Given the description of an element on the screen output the (x, y) to click on. 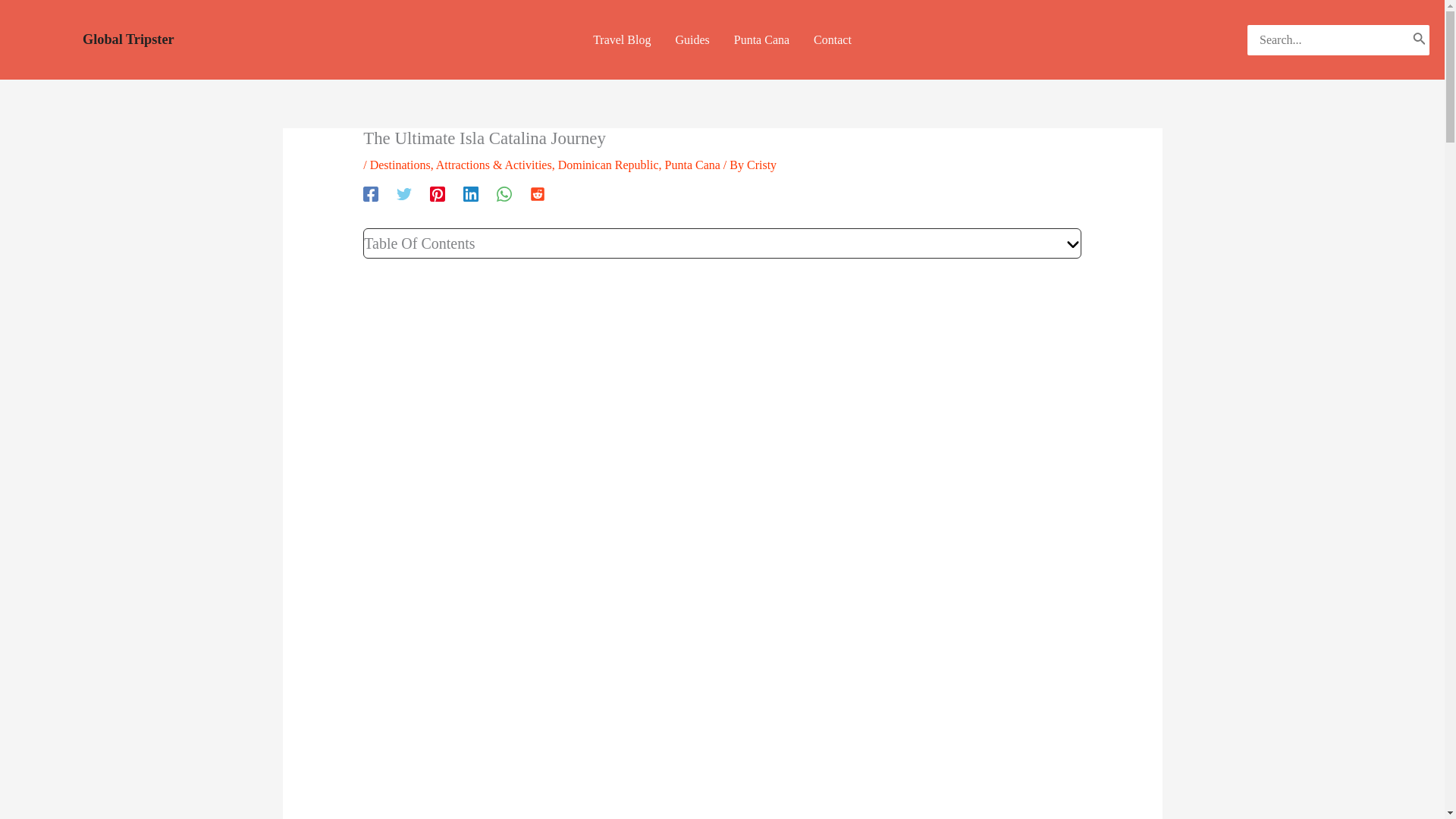
View all posts by Cristy (761, 164)
Destinations (399, 164)
Punta Cana (762, 39)
Dominican Republic (608, 164)
Travel Blog (621, 39)
Contact (832, 39)
Global Tripster (128, 38)
Guides (691, 39)
